Given the description of an element on the screen output the (x, y) to click on. 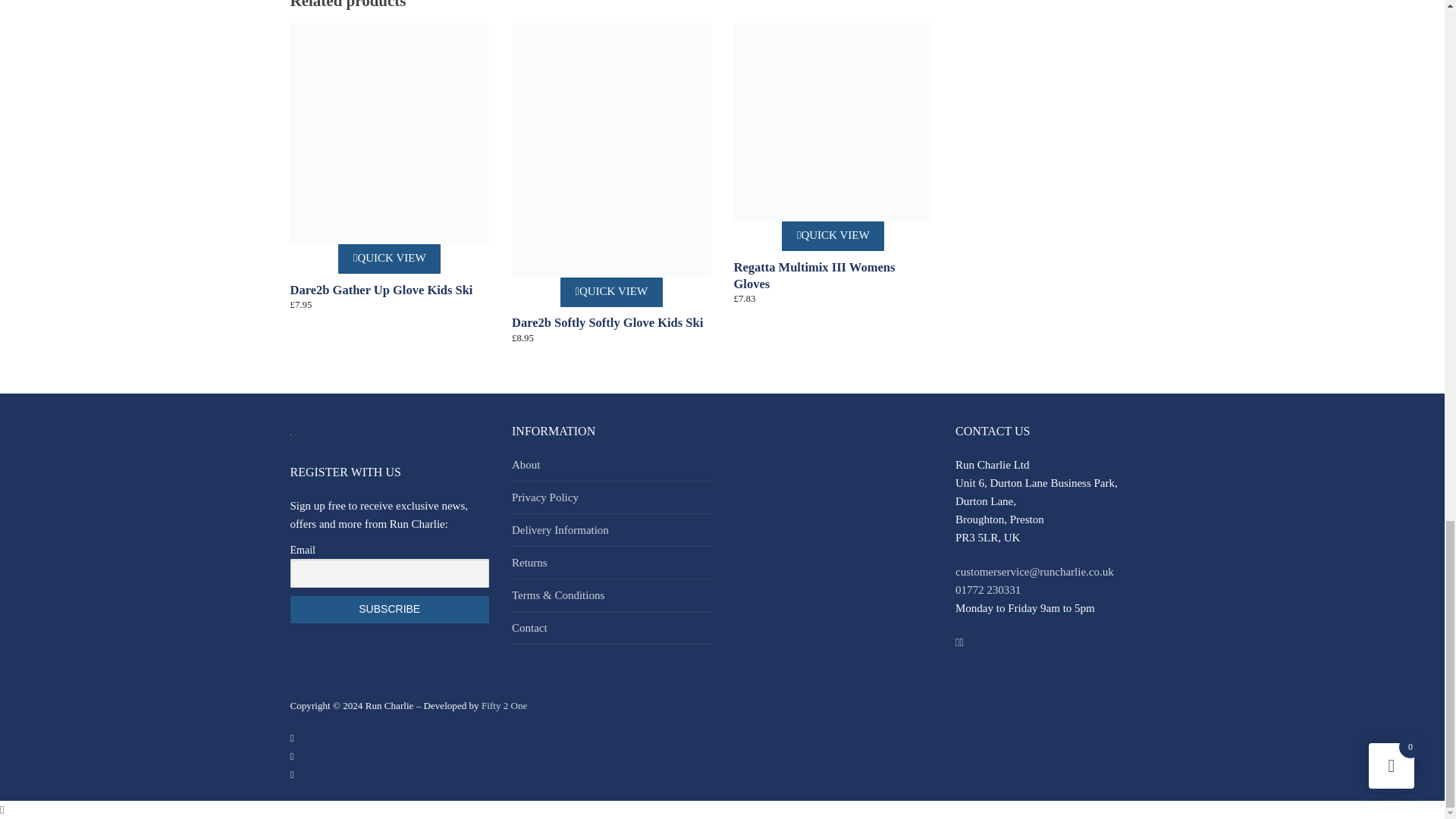
Subscribe (389, 609)
Quick View (389, 258)
Quick View (832, 235)
Quick View (611, 292)
